Given the description of an element on the screen output the (x, y) to click on. 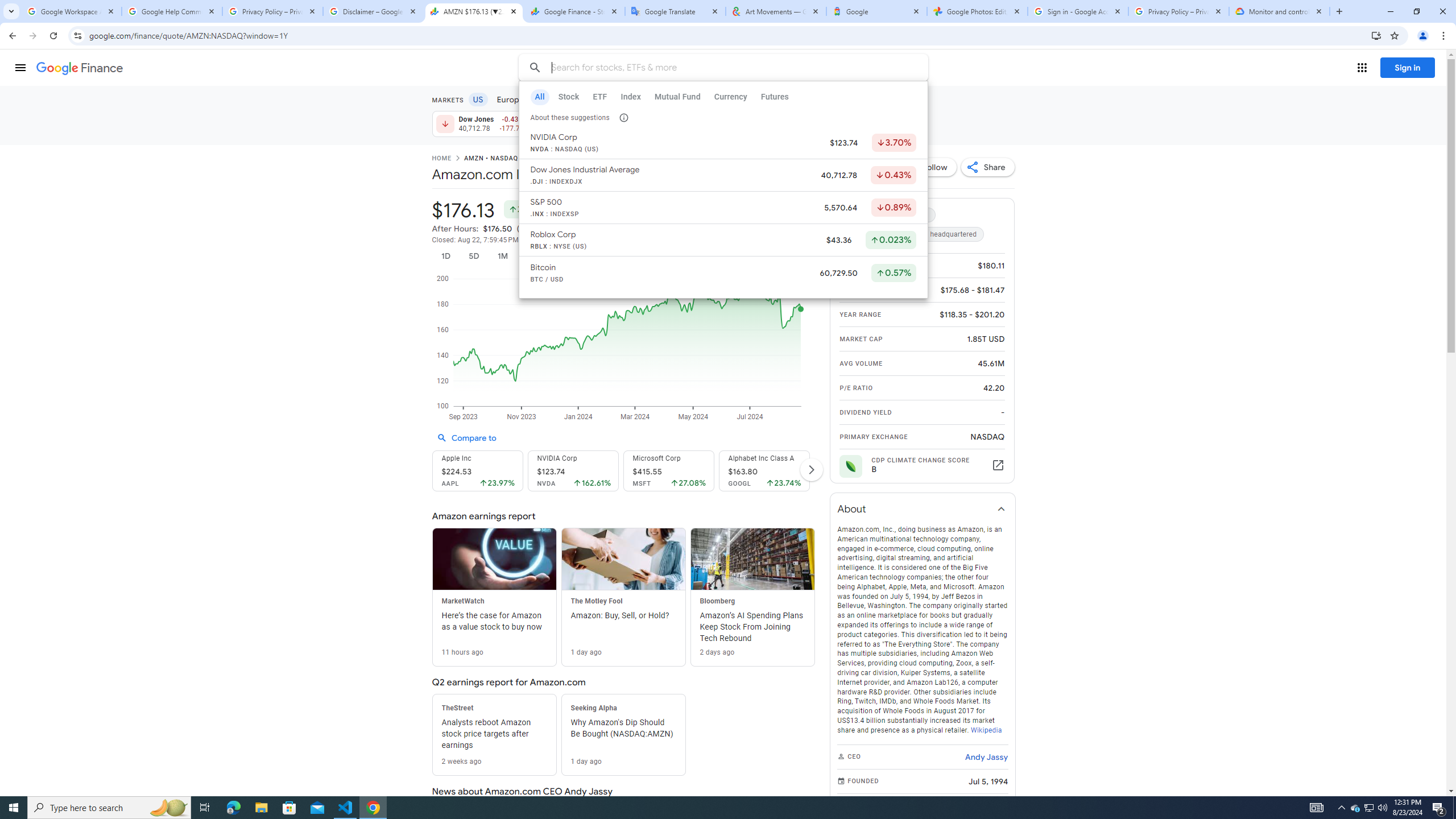
HOME (440, 158)
All (538, 96)
Finance (79, 68)
Follow (929, 167)
NVIDIA Corp NVDA : NASDAQ (US) $123.74 Down by 3.70% (722, 142)
